Given the description of an element on the screen output the (x, y) to click on. 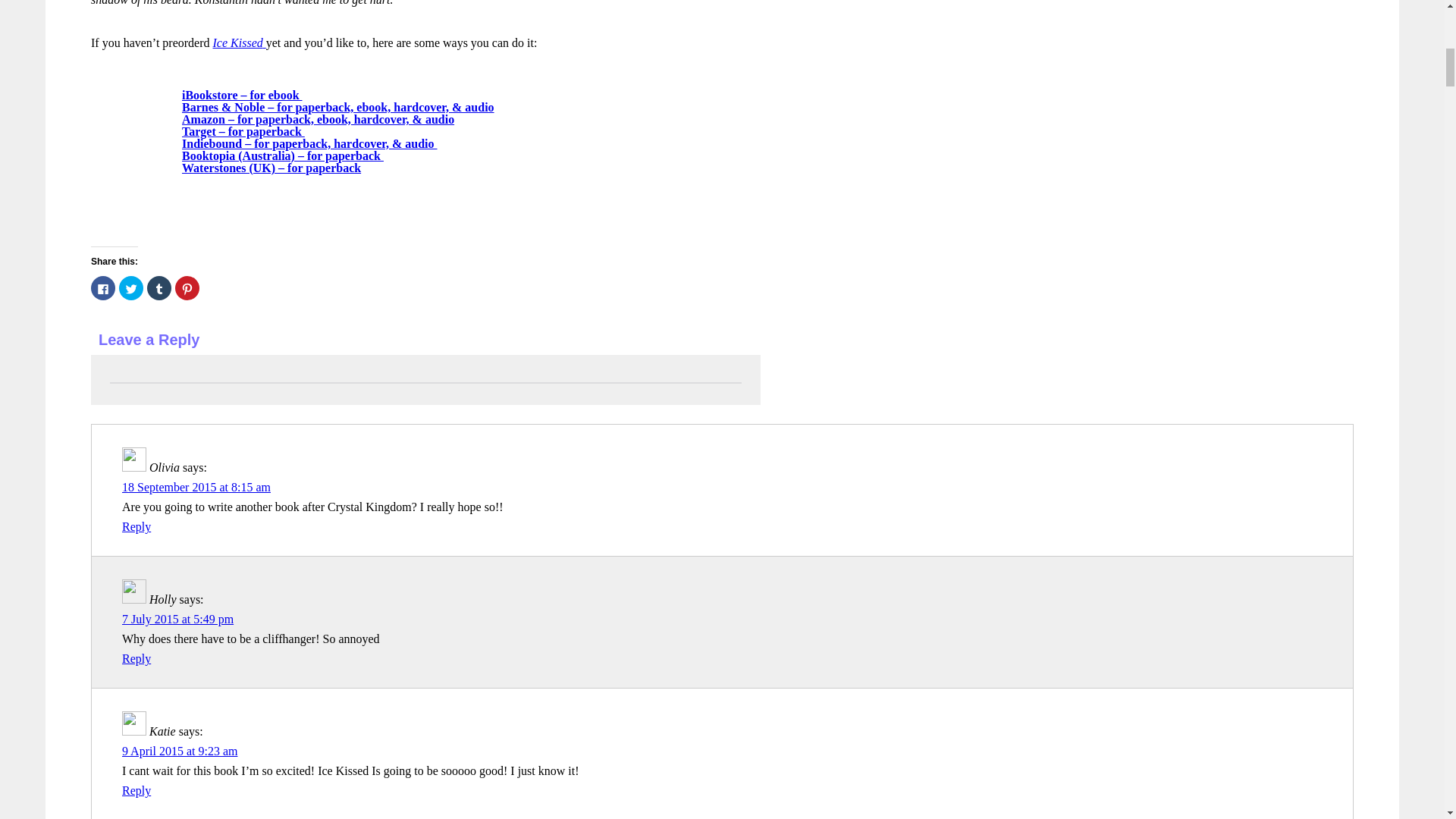
Ice Kissed (239, 42)
7 July 2015 at 5:49 pm (177, 618)
Reply (136, 789)
Click to share on Tumblr (159, 288)
18 September 2015 at 8:15 am (196, 486)
Click to share on Twitter (130, 288)
Click to share on Facebook (102, 288)
Reply (136, 658)
9 April 2015 at 9:23 am (179, 750)
Reply (136, 526)
Click to share on Pinterest (186, 288)
